Given the description of an element on the screen output the (x, y) to click on. 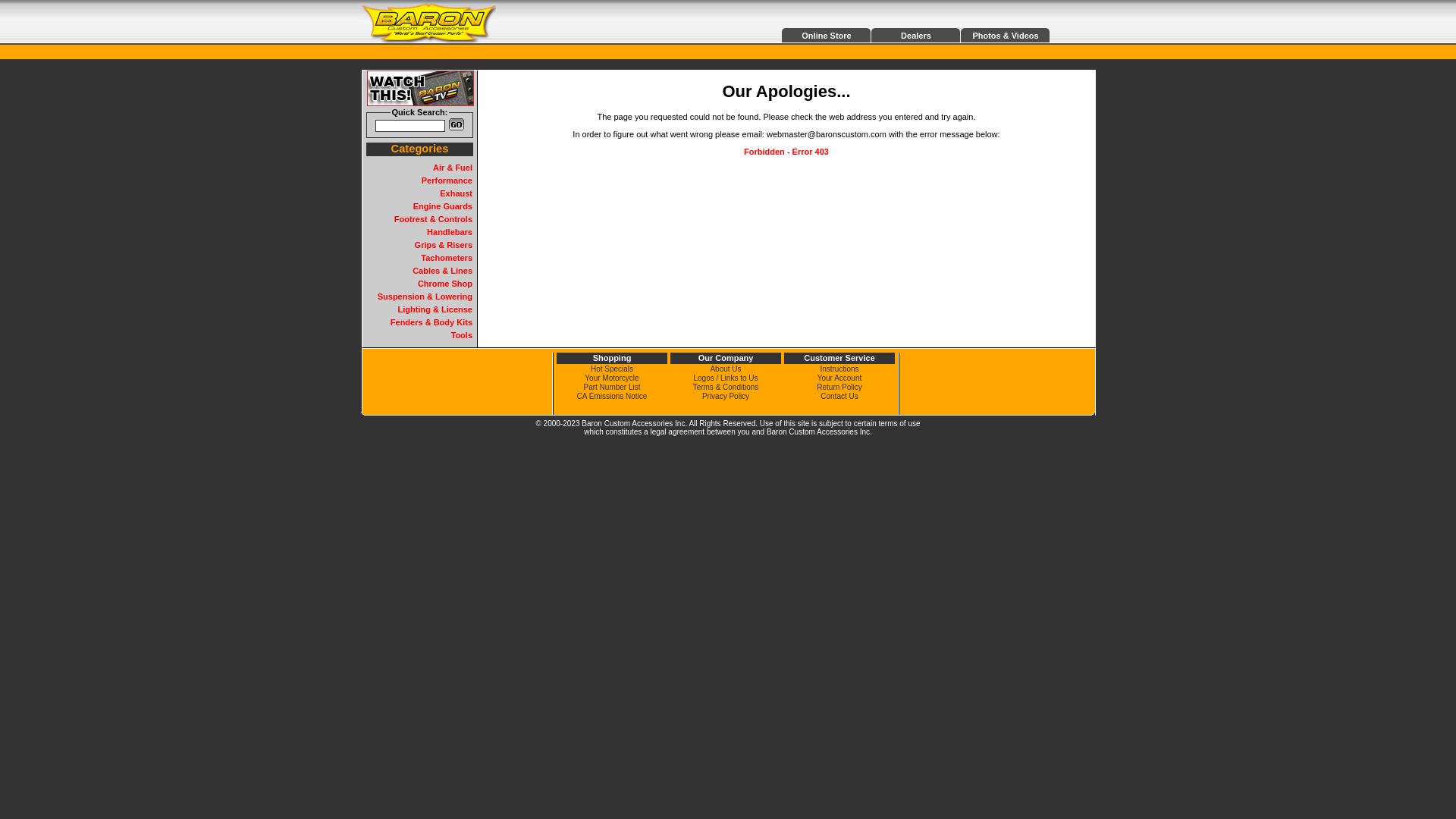
Handlebars Element type: text (449, 231)
Dealers Element type: text (915, 36)
Chrome Shop Element type: text (444, 283)
Tachometers Element type: text (446, 257)
Contact Us Element type: text (838, 396)
Logos / Links to Us Element type: text (725, 377)
Instructions Element type: text (838, 368)
Footrest & Controls Element type: text (433, 218)
Grips & Risers Element type: text (443, 244)
Lighting & License Element type: text (435, 308)
Your Account Element type: text (839, 377)
Terms & Conditions Element type: text (726, 386)
Your Motorcycle Element type: text (611, 377)
Hot Specials Element type: text (611, 368)
Part Number List Element type: text (611, 386)
Exhaust Element type: text (455, 192)
Privacy Policy Element type: text (725, 396)
Fenders & Body Kits Element type: text (431, 321)
Air & Fuel Element type: text (452, 167)
Return Policy Element type: text (838, 386)
Photos & Videos Element type: text (1005, 36)
Engine Guards Element type: text (442, 205)
CA Emissions Notice Element type: text (612, 396)
Tools Element type: text (461, 334)
About Us Element type: text (724, 368)
Cables & Lines Element type: text (442, 270)
Online Store Element type: text (826, 36)
Performance Element type: text (446, 180)
Suspension & Lowering Element type: text (424, 296)
